Given the description of an element on the screen output the (x, y) to click on. 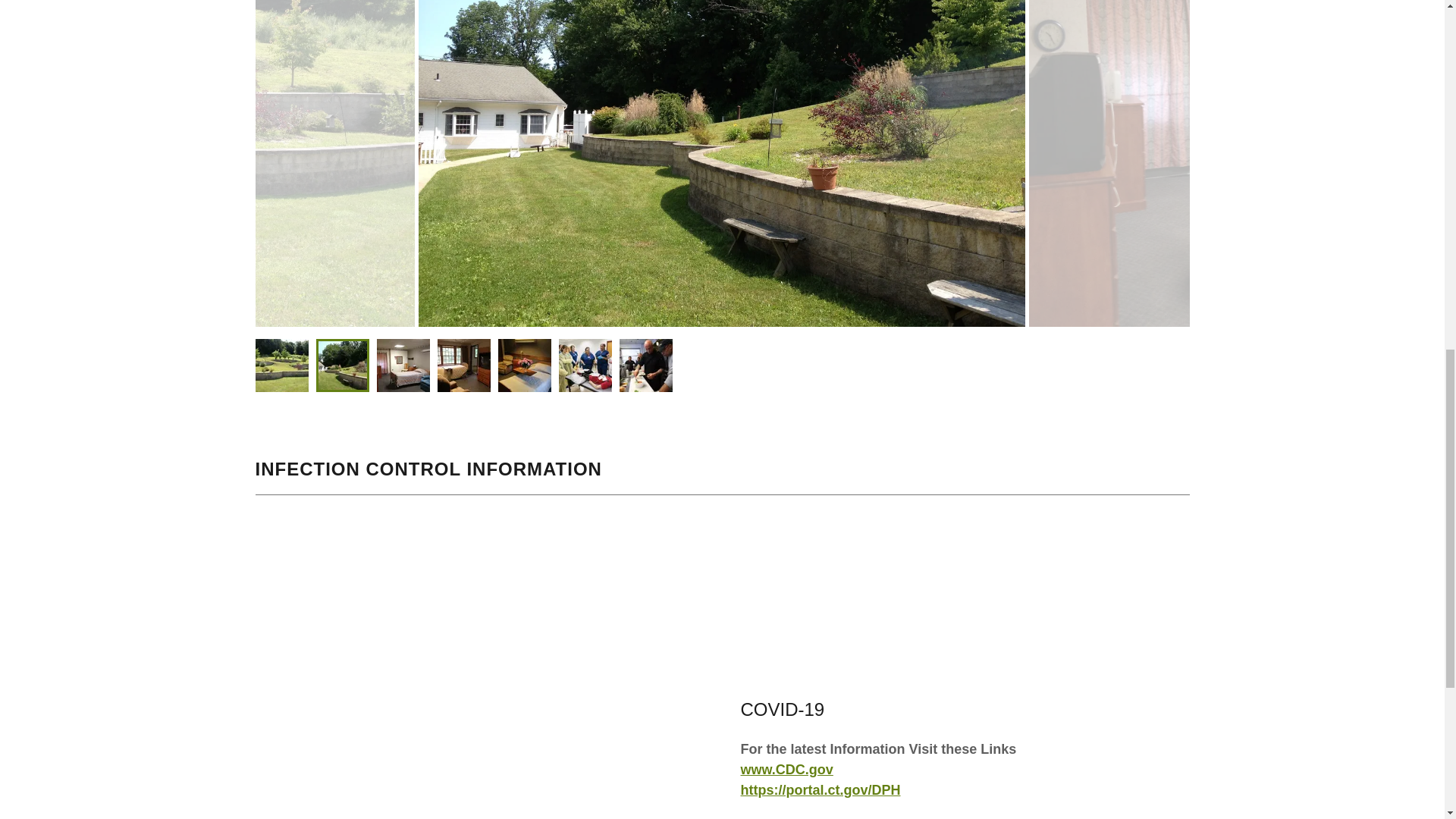
www.CDC.gov (785, 769)
